Given the description of an element on the screen output the (x, y) to click on. 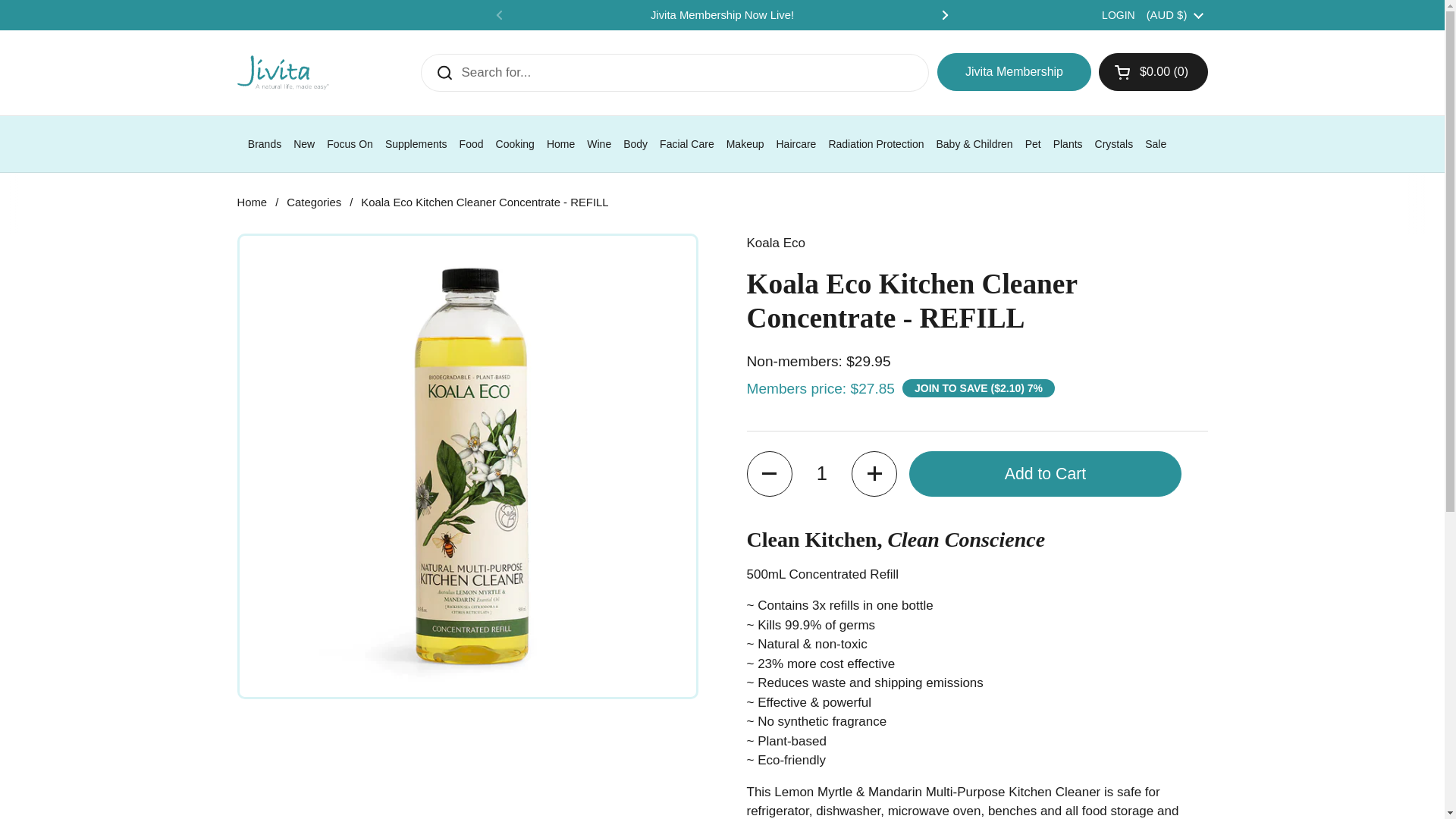
Jivita Membership Now Live! (721, 15)
Open cart (1153, 71)
LOGIN (1118, 15)
Jivita.com.au (282, 72)
1 (821, 473)
Brands (263, 143)
Jivita Membership (1013, 71)
